Given the description of an element on the screen output the (x, y) to click on. 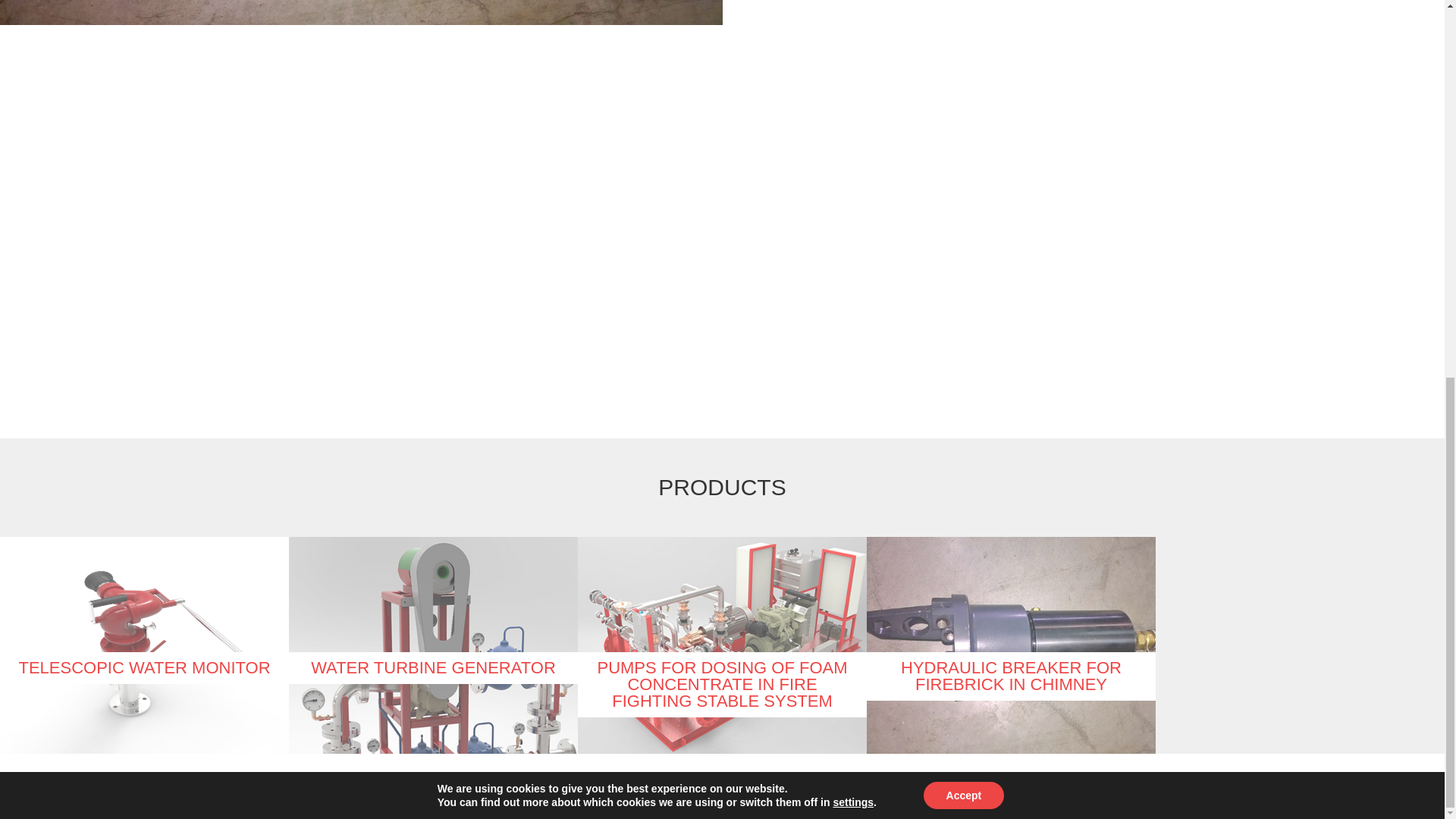
Pixel (839, 795)
WP 20150529 001 (937, 194)
Izrada web stranica (839, 795)
RAZBIJAC DIMANJAKA (505, 231)
Accept (963, 98)
